Given the description of an element on the screen output the (x, y) to click on. 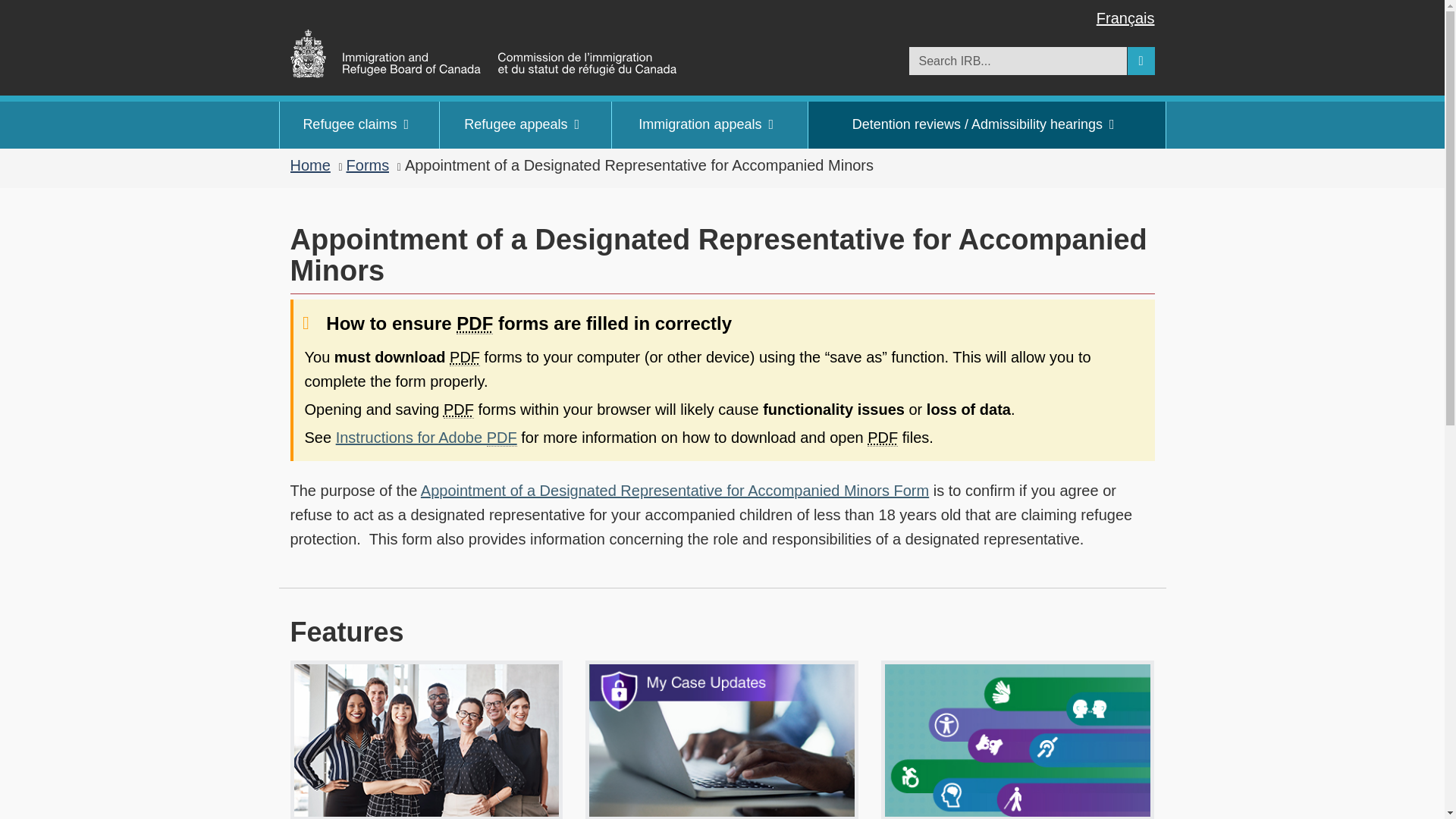
Portable document format (464, 357)
Search (1140, 60)
Portable document format (475, 323)
Portable document format (882, 437)
Portable document format (501, 437)
Skip to main content (731, 11)
Portable document format (459, 409)
